Given the description of an element on the screen output the (x, y) to click on. 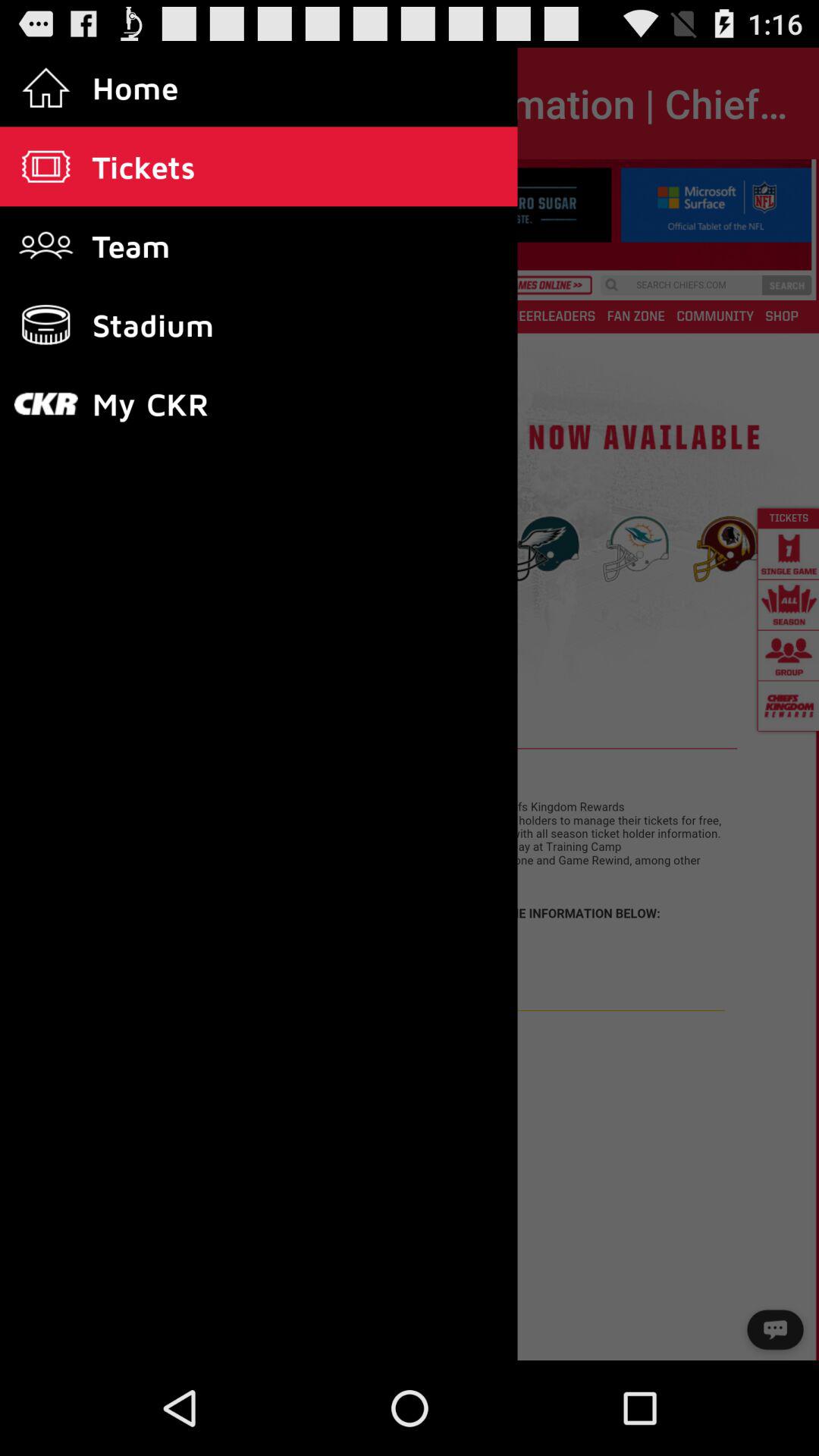
turn off the item next to season tickets information (55, 103)
